Given the description of an element on the screen output the (x, y) to click on. 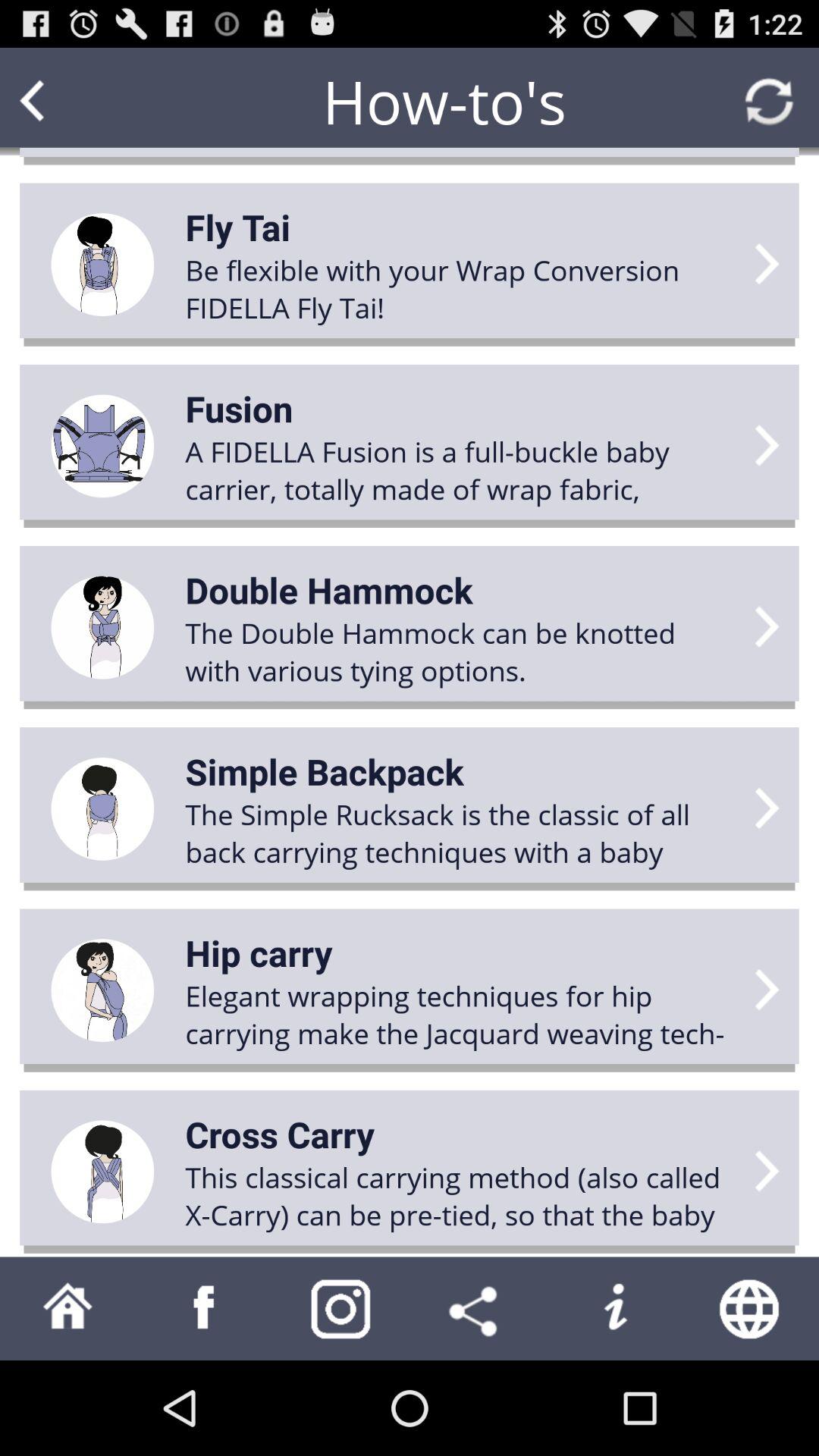
turn on the icon above the the simple rucksack item (324, 771)
